Given the description of an element on the screen output the (x, y) to click on. 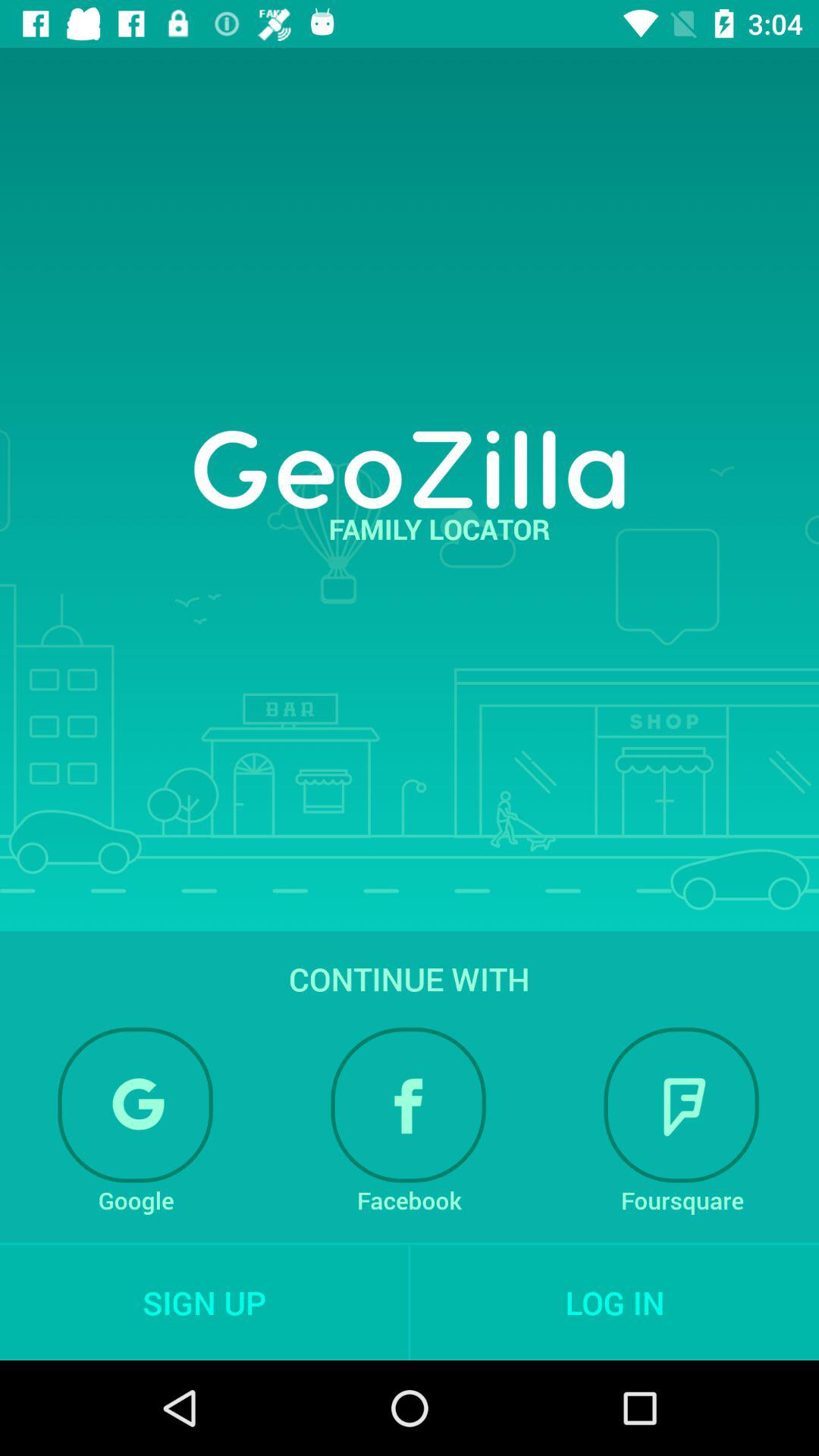
flip to sign up icon (204, 1302)
